Given the description of an element on the screen output the (x, y) to click on. 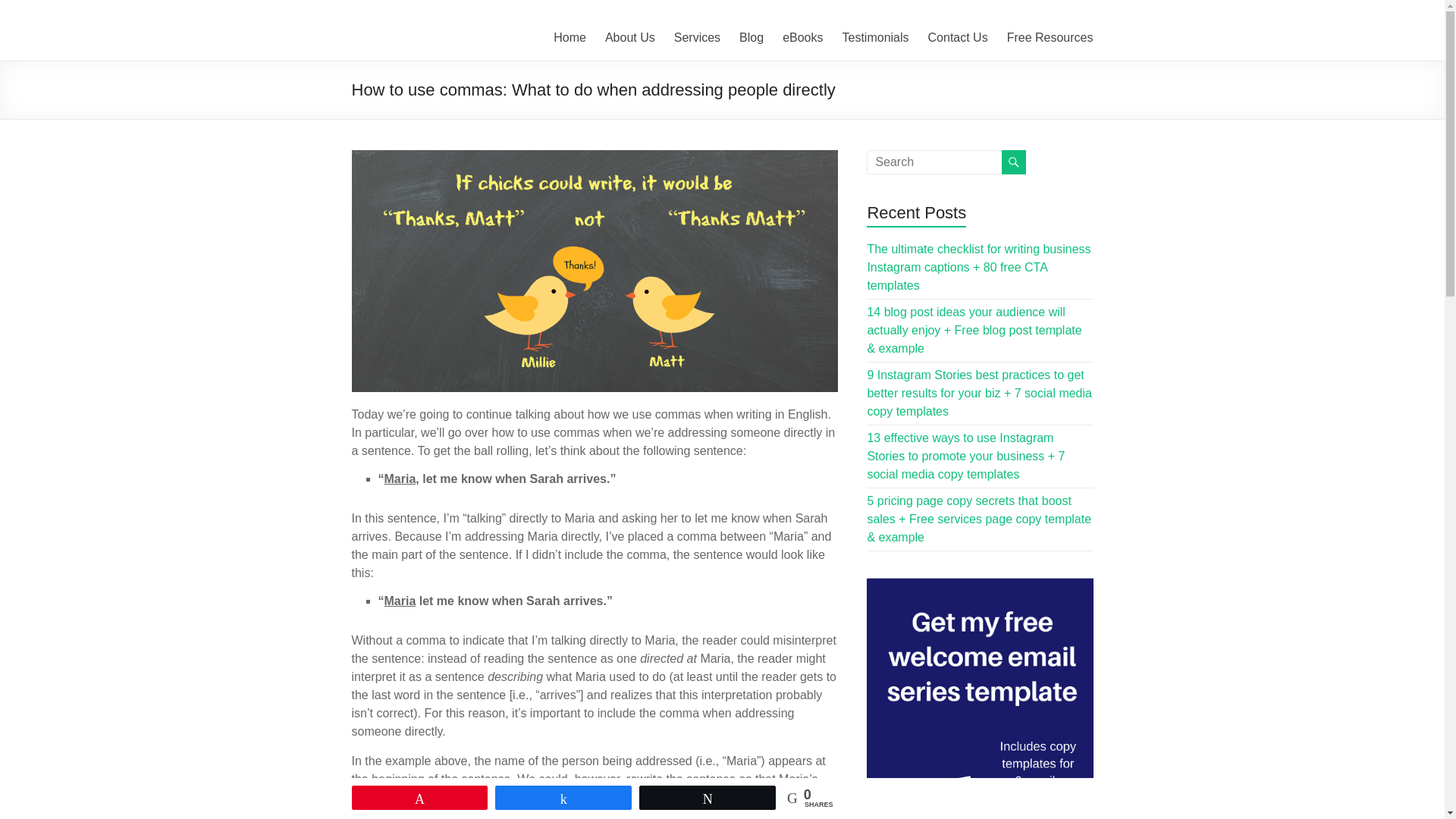
Contact Us (958, 37)
Testimonials (874, 37)
Inpression Editing (413, 45)
Blog (750, 37)
Free Resources (1050, 37)
About Us (630, 37)
Services (697, 37)
eBooks (802, 37)
Home (569, 37)
Inpression Editing (413, 45)
